Given the description of an element on the screen output the (x, y) to click on. 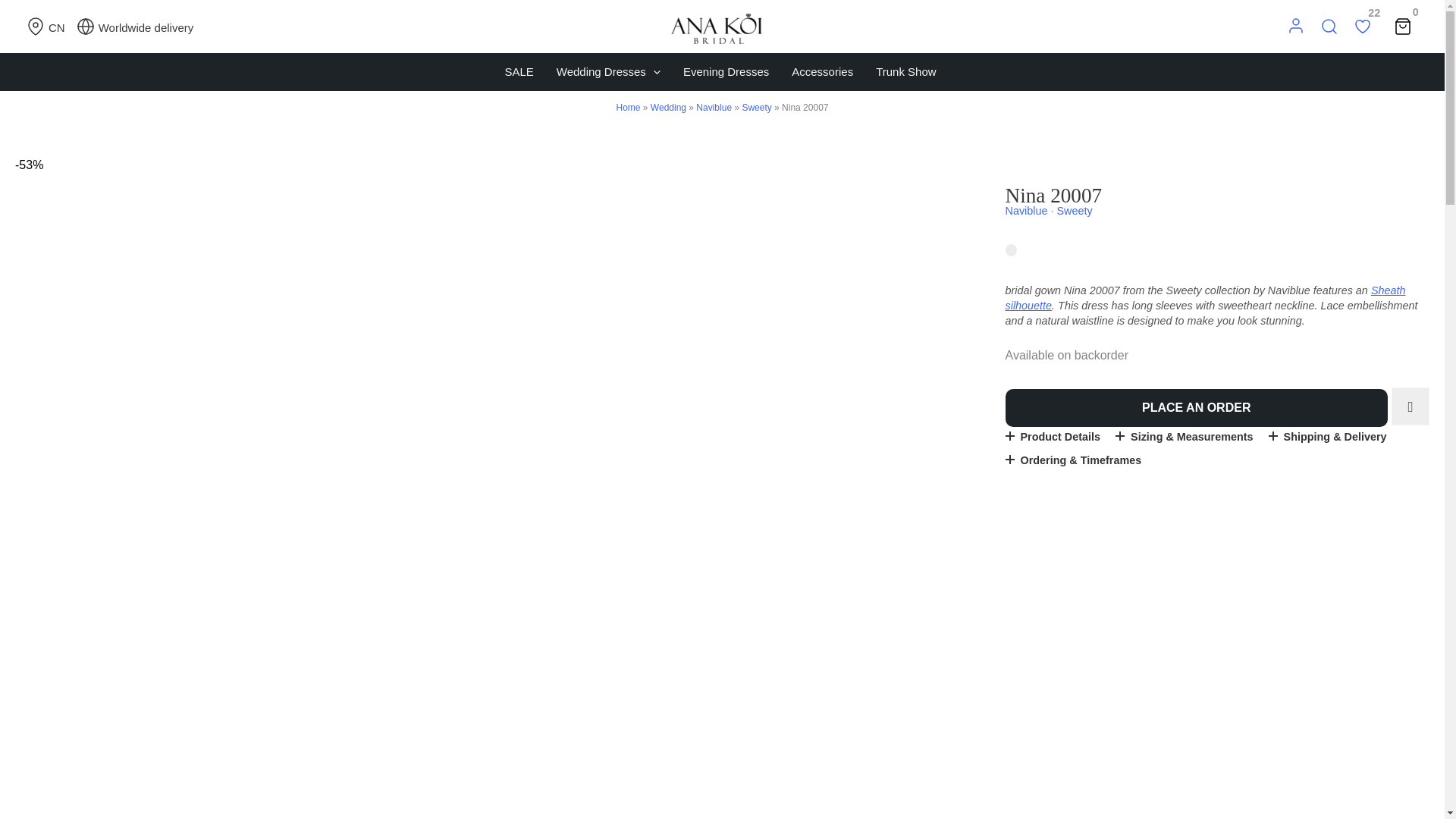
Wedding Dresses (607, 71)
22 (1362, 26)
CN (47, 26)
SALE (518, 71)
